Given the description of an element on the screen output the (x, y) to click on. 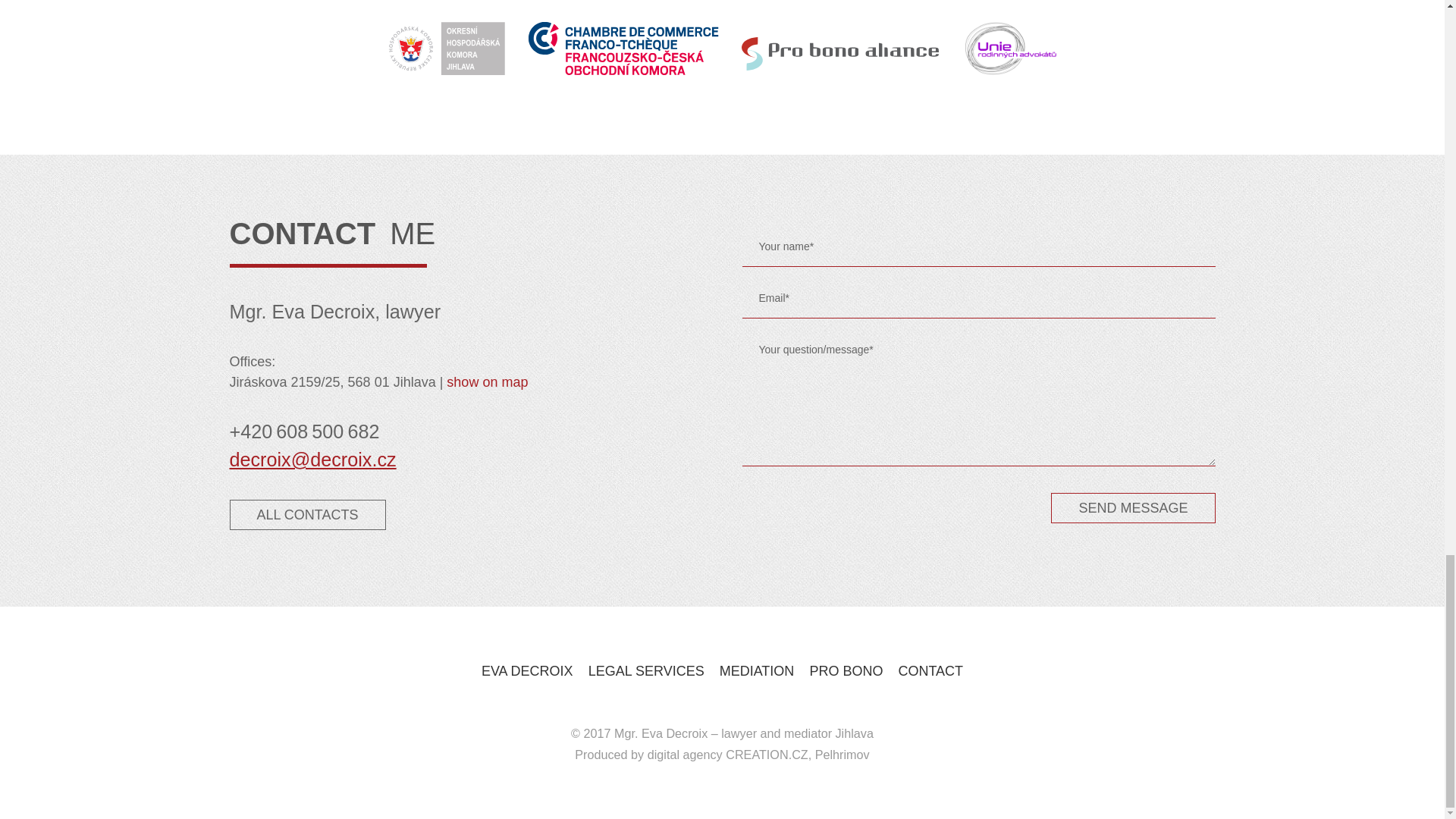
digital agency (684, 754)
Send message (1132, 508)
CREATION.CZ (766, 754)
MEDIATION (756, 671)
Send message (1132, 508)
Mgr. Eva Decroix (660, 733)
Pro bono aliance (840, 48)
EVA DECROIX (527, 671)
ALL CONTACTS (306, 514)
CONTACT (930, 671)
LEGAL SERVICES (645, 671)
show on map (486, 381)
Pelhrimov (842, 754)
PRO BONO (845, 671)
